Given the description of an element on the screen output the (x, y) to click on. 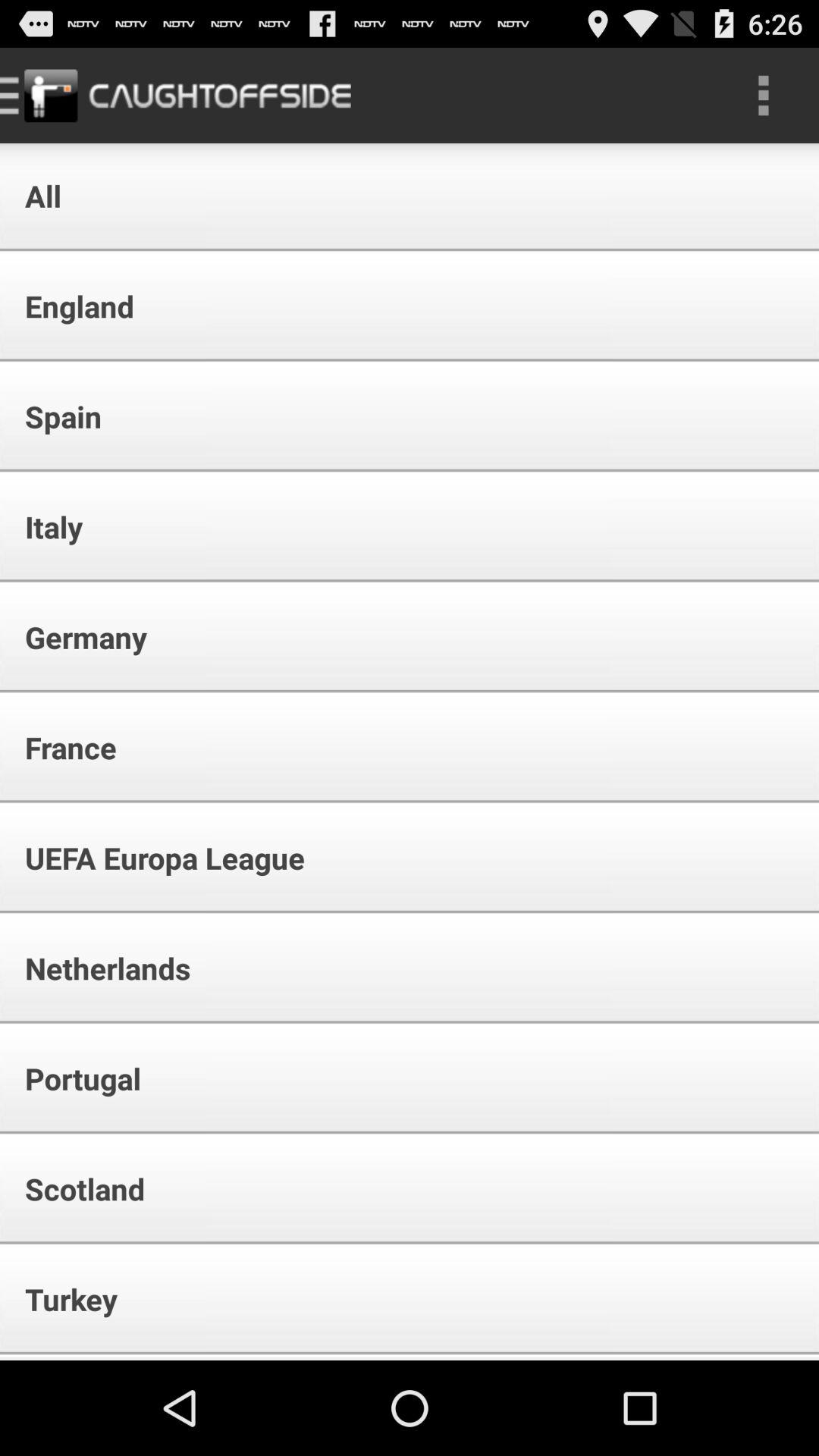
jump until netherlands icon (97, 968)
